Given the description of an element on the screen output the (x, y) to click on. 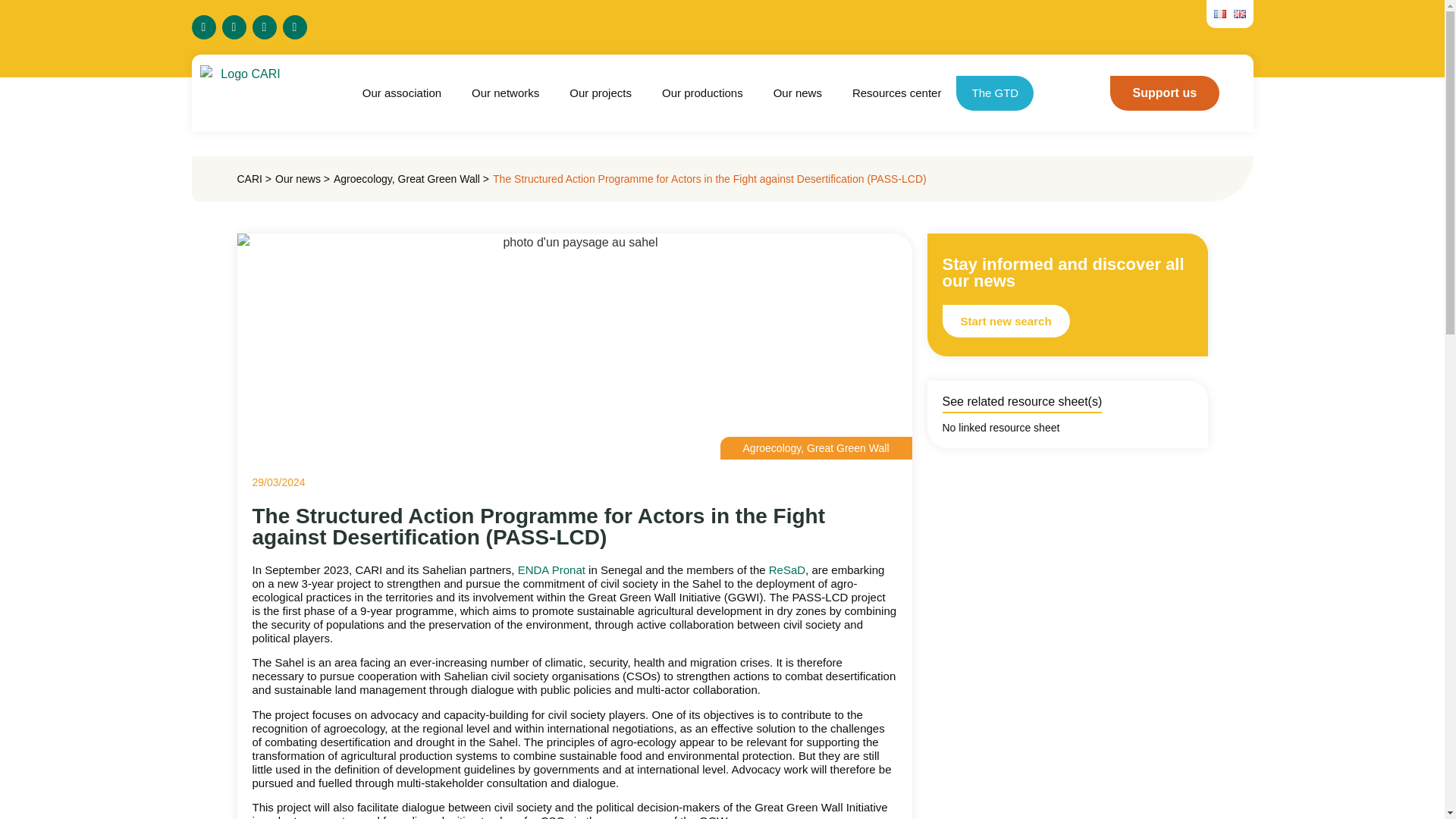
The GTD (994, 93)
Our productions (702, 93)
ENDA Pronat (551, 569)
Our projects (600, 93)
Our news (797, 93)
Our association (402, 93)
Great Green Wall (438, 178)
Great Green Wall (847, 448)
Our networks (505, 93)
Resources center (896, 93)
